Given the description of an element on the screen output the (x, y) to click on. 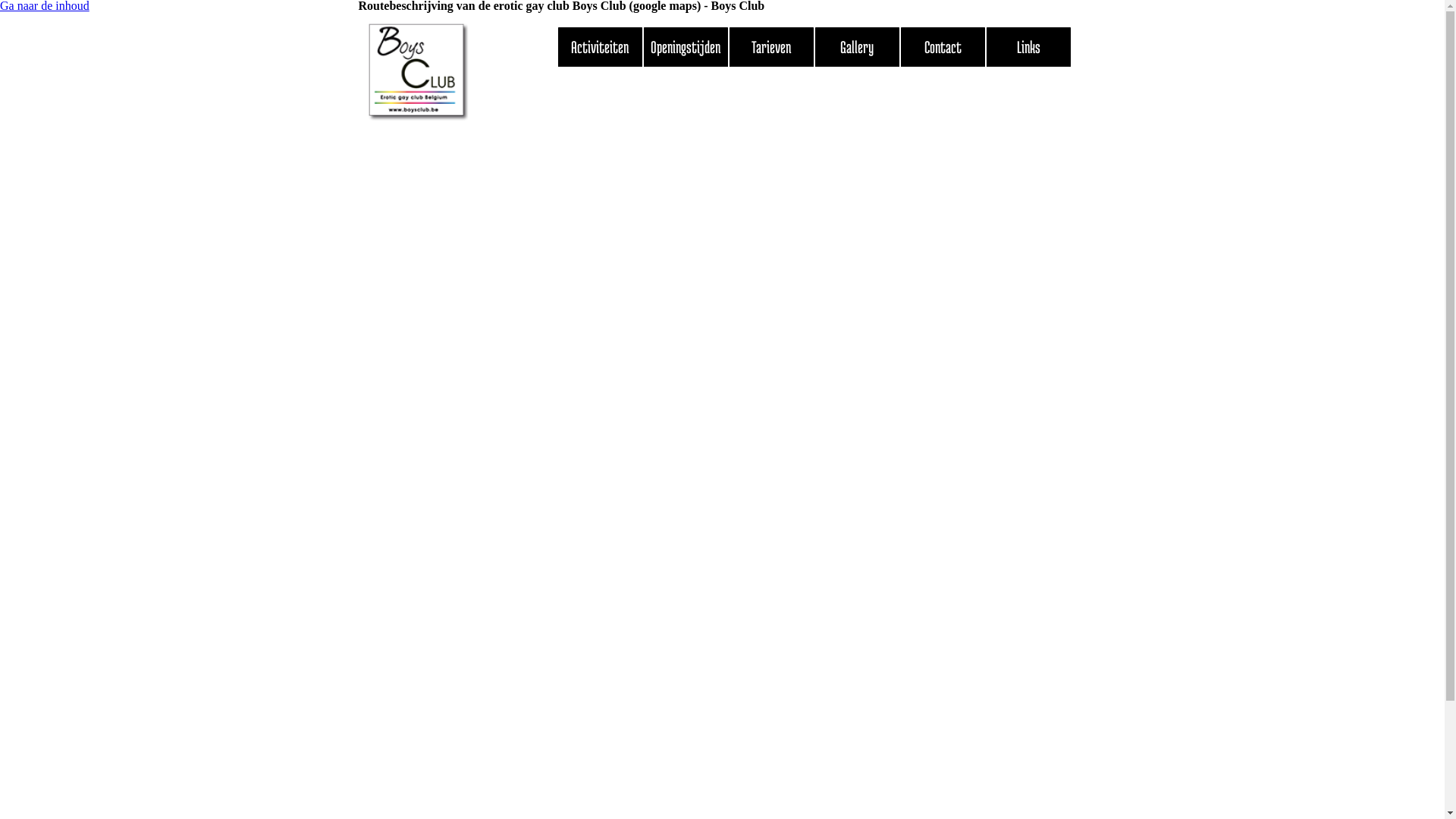
Contact Element type: text (942, 46)
Activiteiten Element type: text (600, 46)
Openingstijden Element type: text (685, 46)
Links Element type: text (1027, 46)
Tarieven Element type: text (771, 46)
Gallery Element type: text (856, 46)
Ga naar de inhoud Element type: text (179, 56)
